Given the description of an element on the screen output the (x, y) to click on. 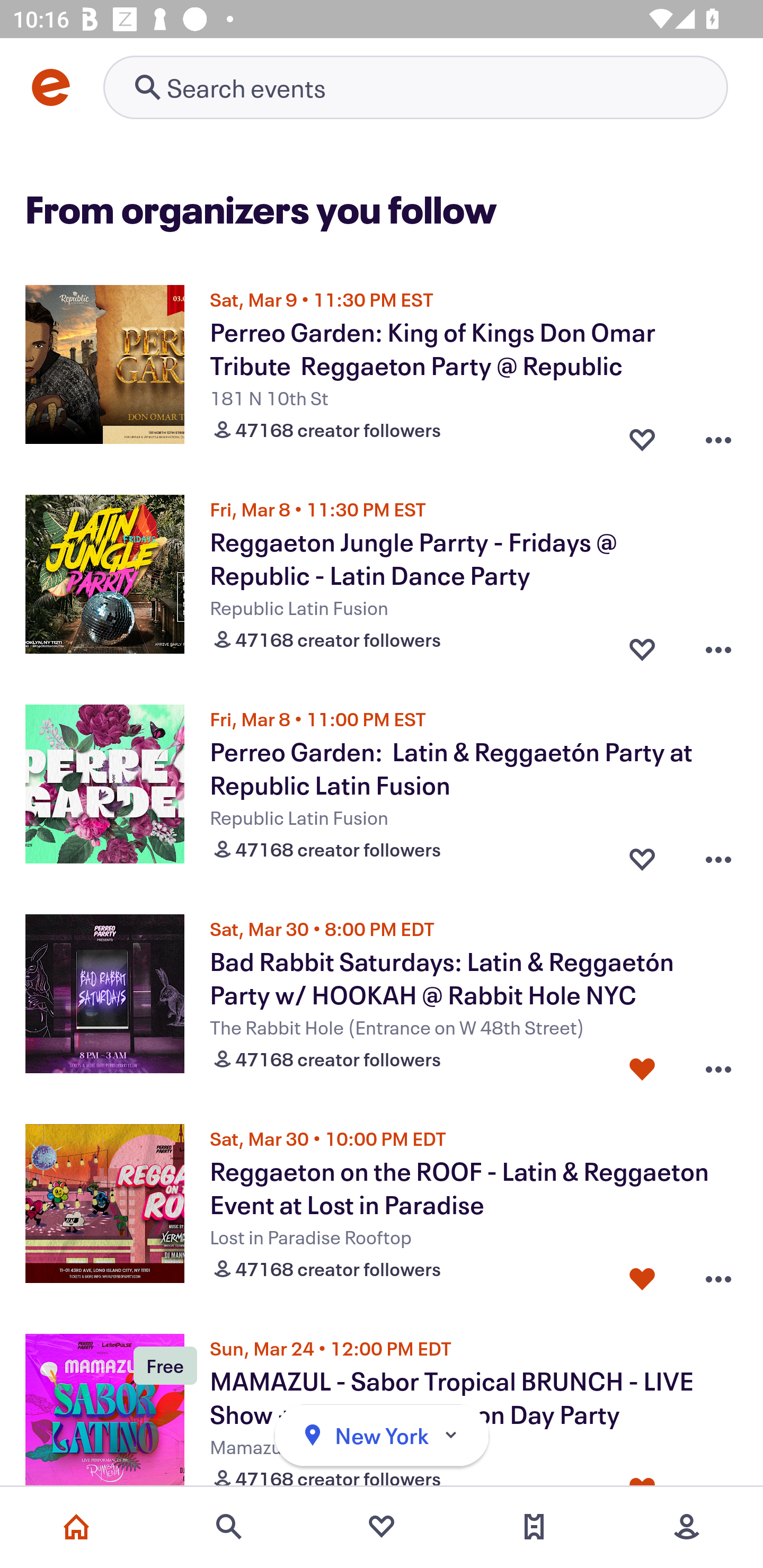
Retry's image Search events (415, 86)
Favorite button (642, 434)
Overflow menu button (718, 434)
Favorite button (642, 644)
Overflow menu button (718, 644)
Favorite button (642, 855)
Overflow menu button (718, 855)
Favorite button (642, 1065)
Overflow menu button (718, 1065)
Favorite button (642, 1274)
Overflow menu button (718, 1274)
New York (381, 1435)
Home (76, 1526)
Search events (228, 1526)
Favorites (381, 1526)
Tickets (533, 1526)
More (686, 1526)
